Given the description of an element on the screen output the (x, y) to click on. 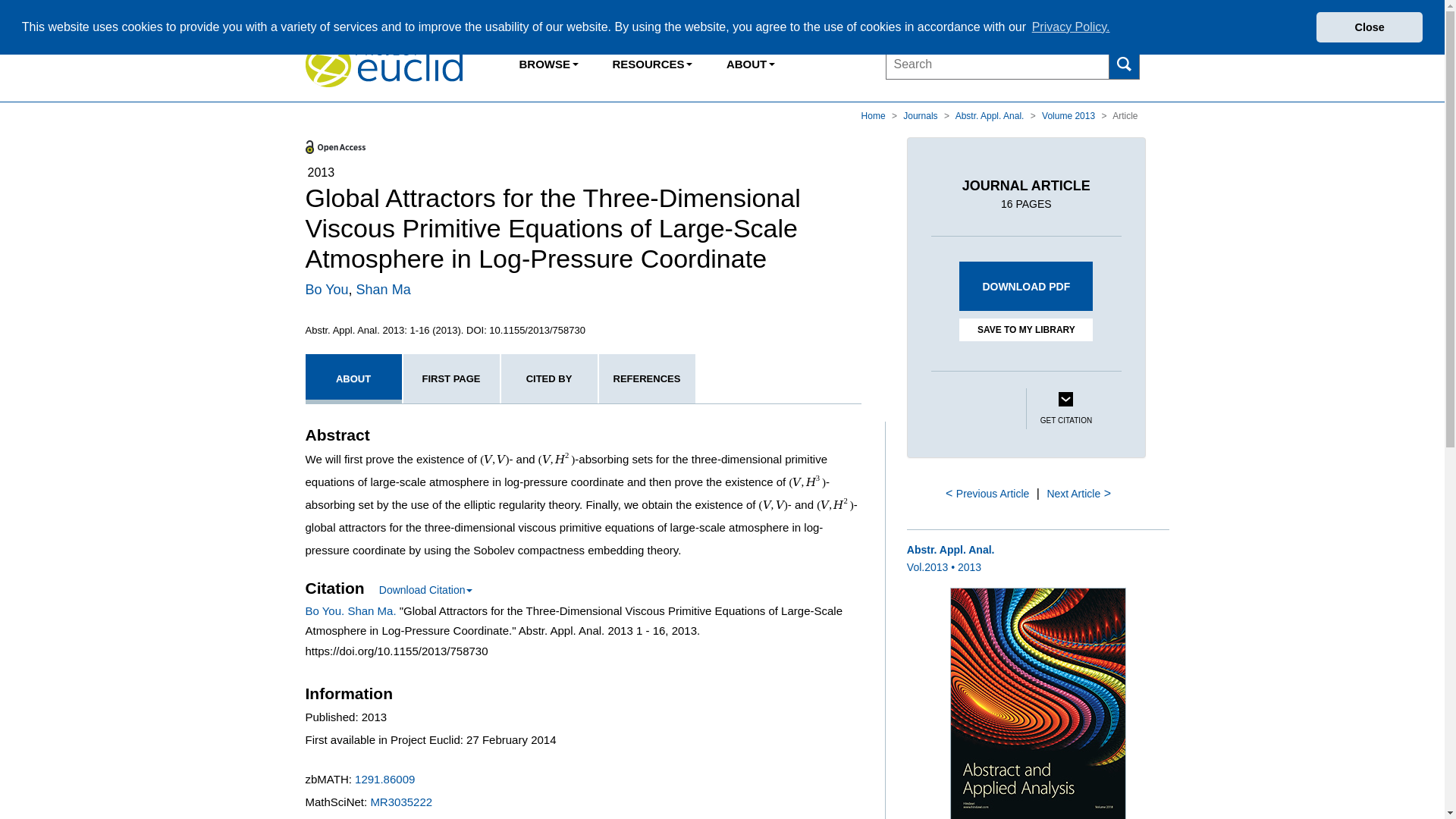
FIRST PAGE (451, 378)
CITED BY (548, 378)
Volume 2013 (1069, 115)
Browse (549, 64)
REFERENCES (646, 378)
ABOUT (352, 378)
RESOURCES (651, 64)
Journals (921, 115)
ABOUT (750, 64)
About (750, 64)
Home (874, 115)
Sign In (1075, 13)
Abstr. Appl. Anal. (990, 115)
Close (1369, 27)
Home (874, 115)
